Given the description of an element on the screen output the (x, y) to click on. 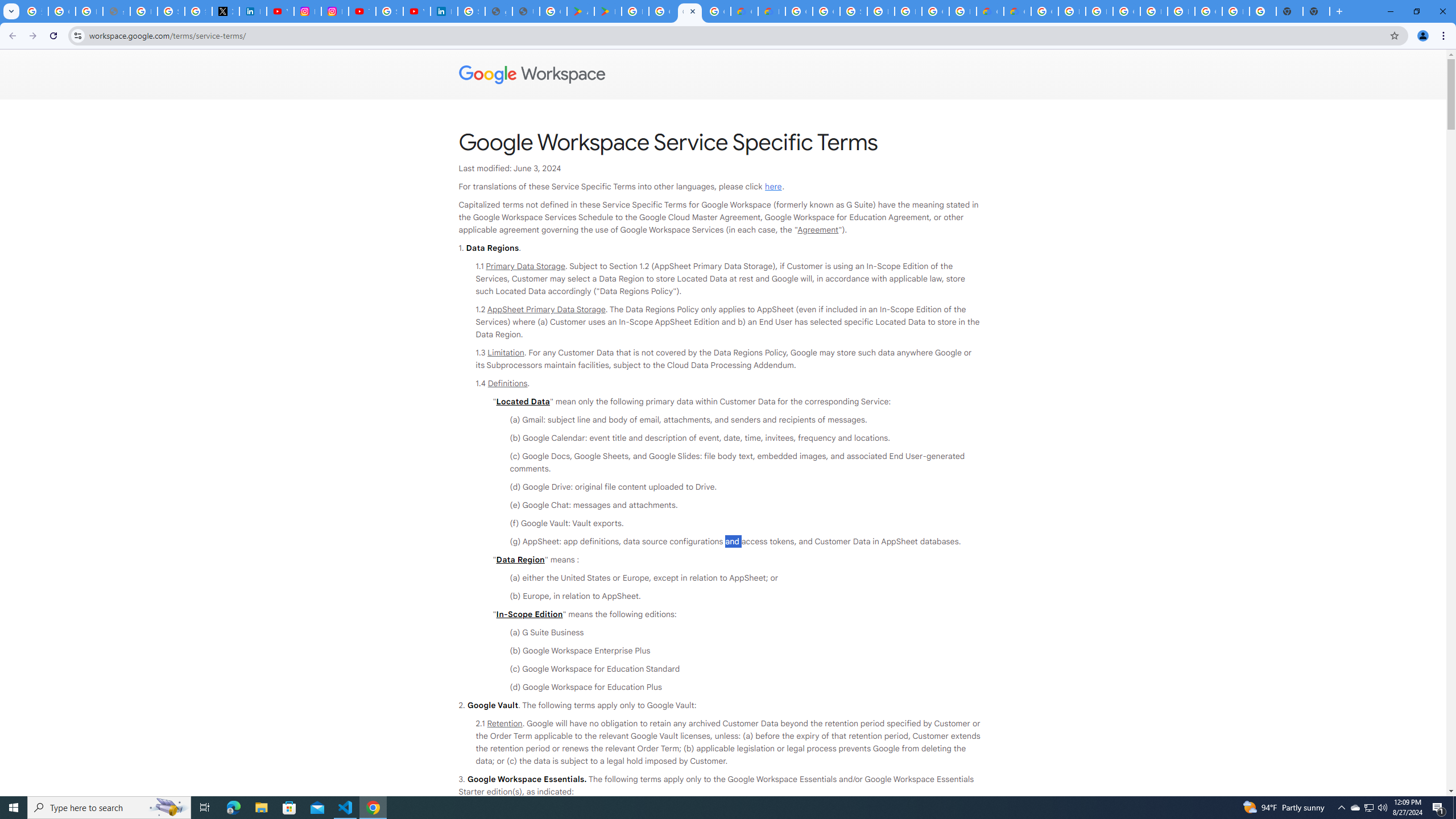
Customer Care | Google Cloud (743, 11)
Sign in - Google Accounts (853, 11)
Sign in - Google Accounts (170, 11)
Sign in - Google Accounts (389, 11)
Sign in - Google Accounts (471, 11)
New Tab (1316, 11)
PAW Patrol Rescue World - Apps on Google Play (607, 11)
